Given the description of an element on the screen output the (x, y) to click on. 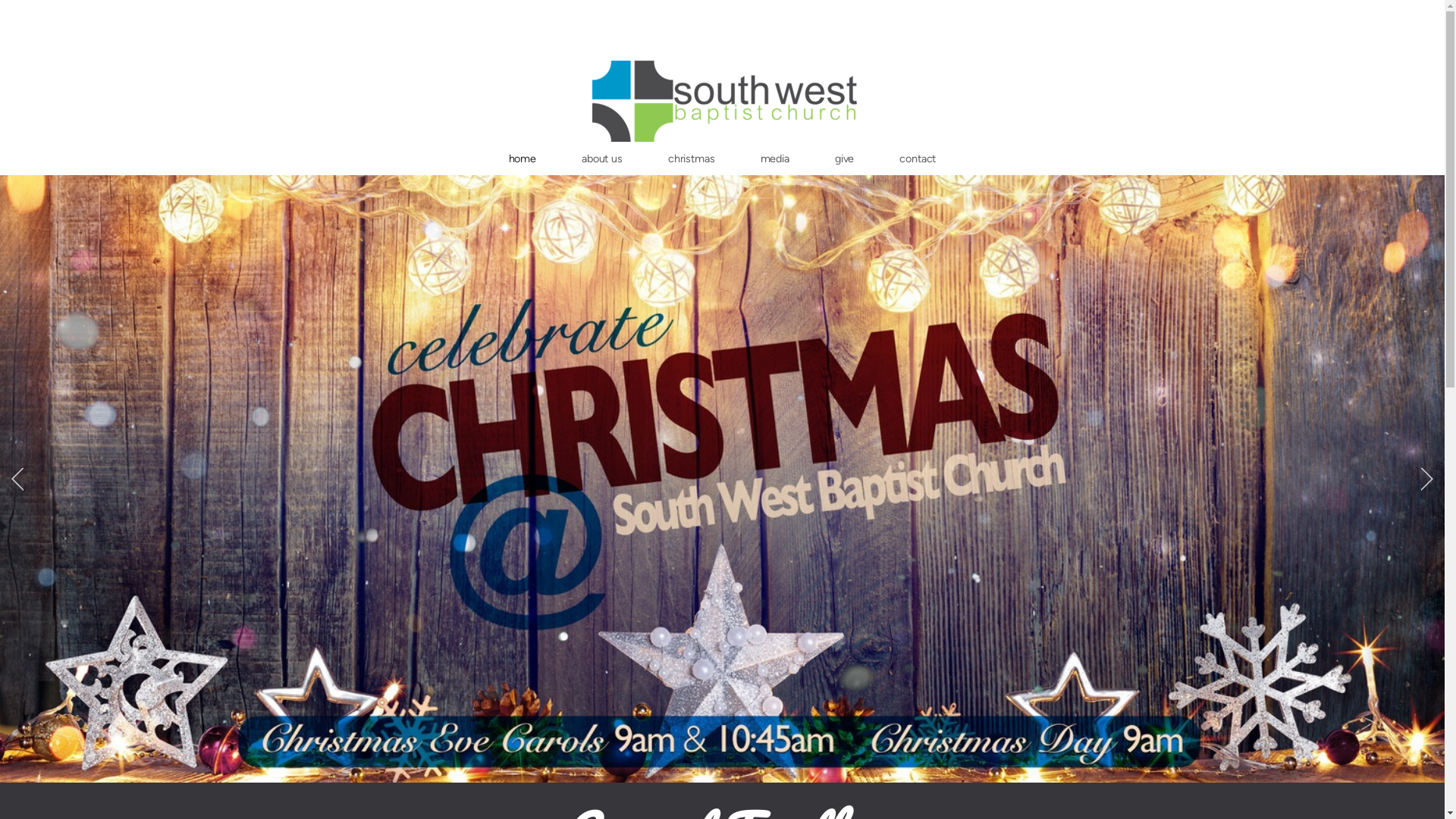
about us Element type: text (601, 158)
contact Element type: text (917, 158)
give Element type: text (843, 158)
media Element type: text (774, 158)
home Element type: text (522, 158)
Previous Element type: text (17, 478)
christmas Element type: text (691, 158)
Next Element type: text (1427, 478)
